Given the description of an element on the screen output the (x, y) to click on. 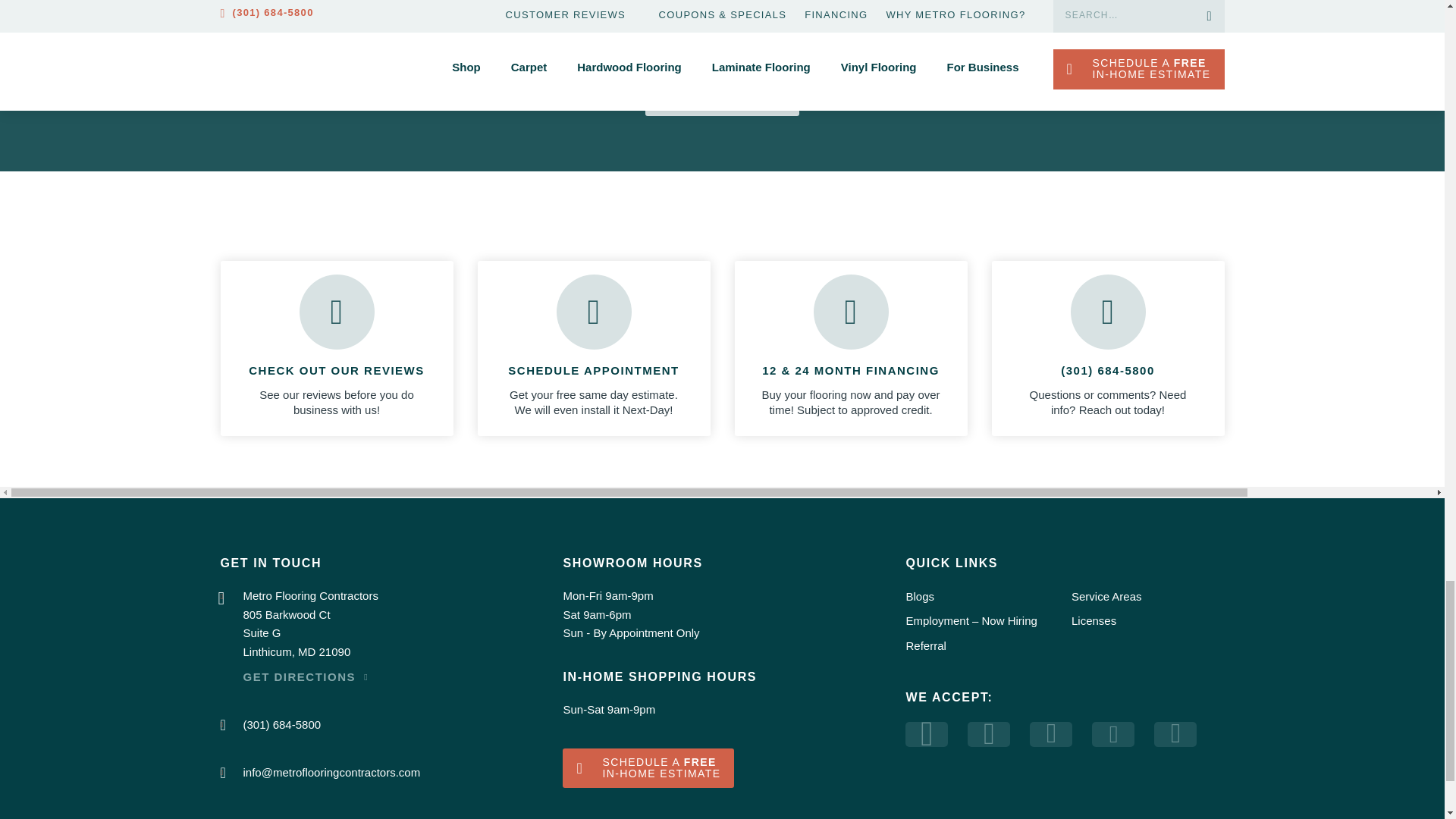
Schedule (647, 768)
